Given the description of an element on the screen output the (x, y) to click on. 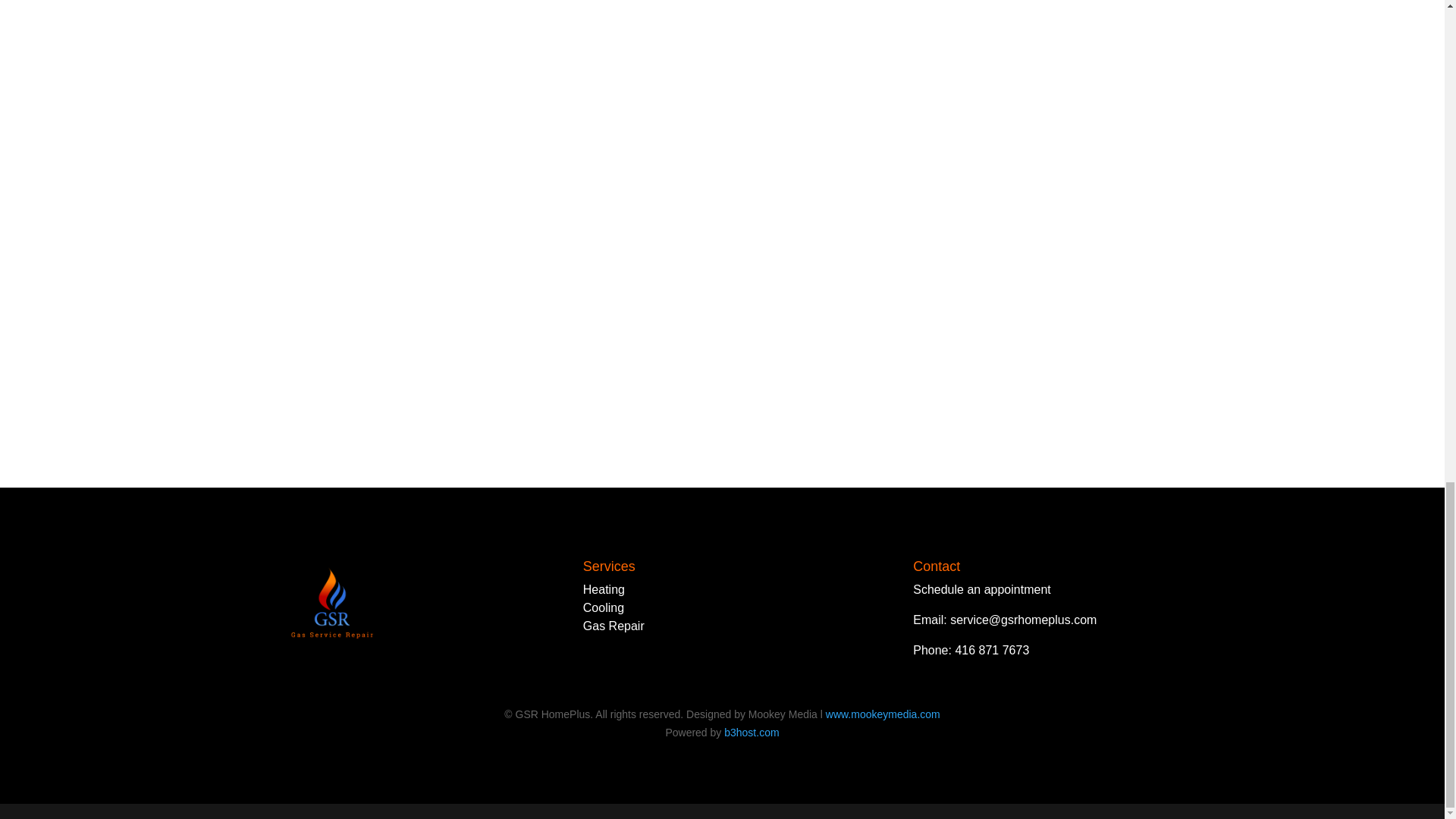
www.mookeymedia.com (882, 714)
b3host.com (750, 732)
Gas Repair (614, 625)
Heating (603, 589)
Cooling (603, 607)
Schedule an appointment (980, 589)
